Given the description of an element on the screen output the (x, y) to click on. 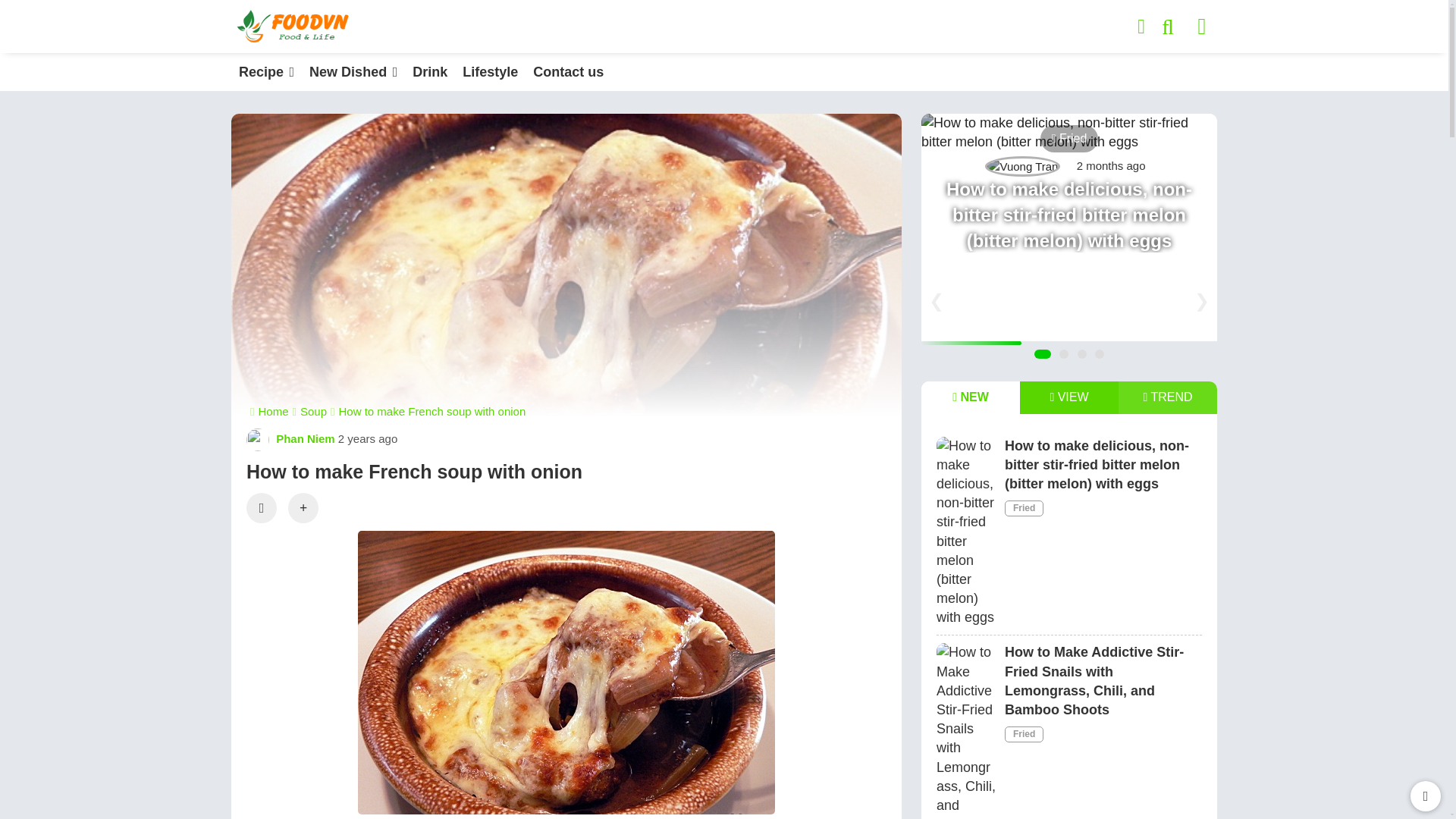
New Dished (352, 71)
Drink (429, 71)
How to make French soup with onion (427, 410)
Zoom in (303, 508)
Recipe (266, 71)
Soup (309, 410)
Phan Niem (290, 438)
Contact us (568, 71)
Zoom out (261, 508)
Home (269, 410)
Lifestyle (489, 71)
